Given the description of an element on the screen output the (x, y) to click on. 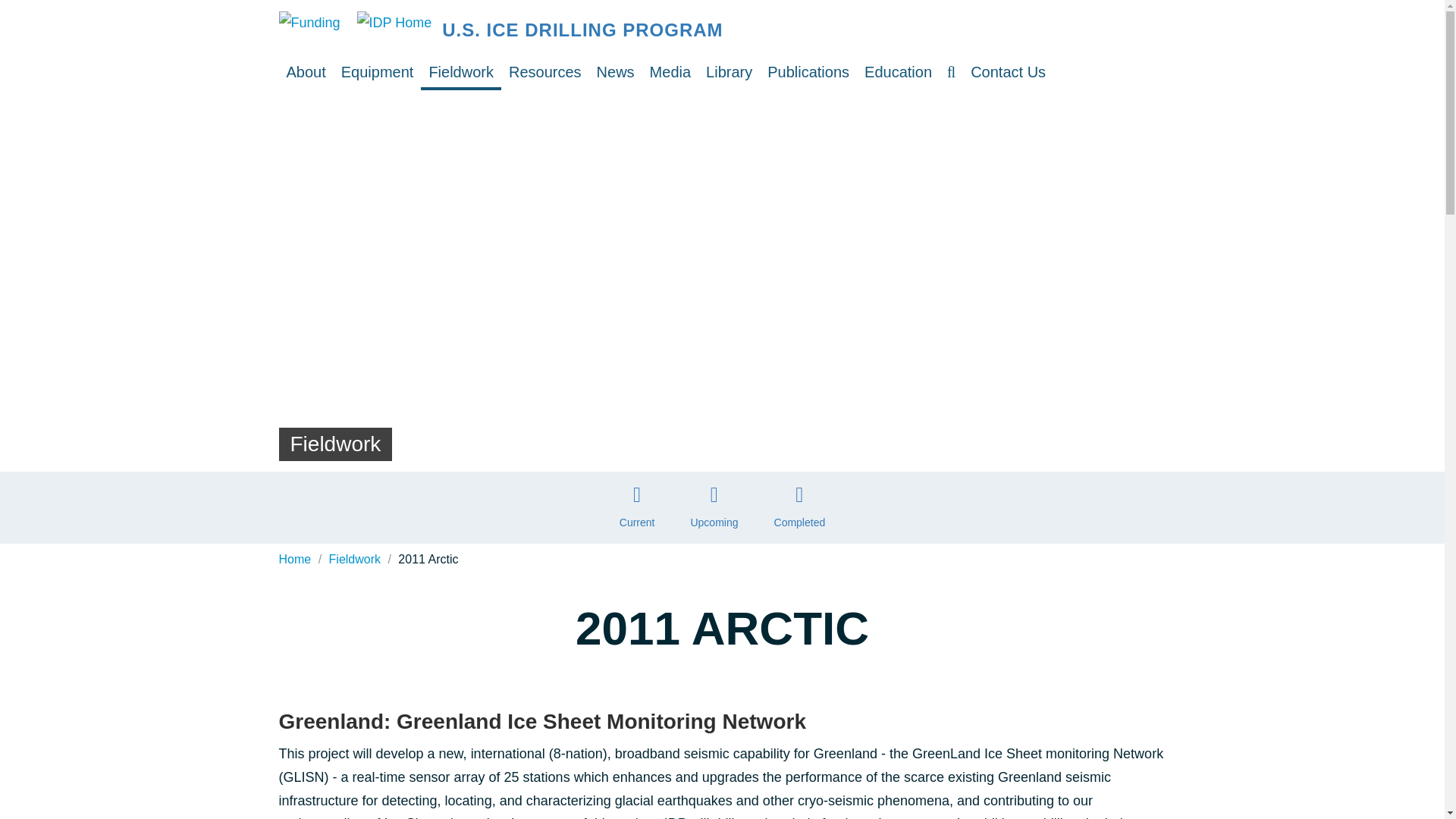
About (306, 71)
U.S. ICE DRILLING PROGRAM (593, 29)
Resources (544, 71)
Equipment (377, 71)
News (615, 71)
Fieldwork (460, 71)
IDP Home (593, 29)
